Given the description of an element on the screen output the (x, y) to click on. 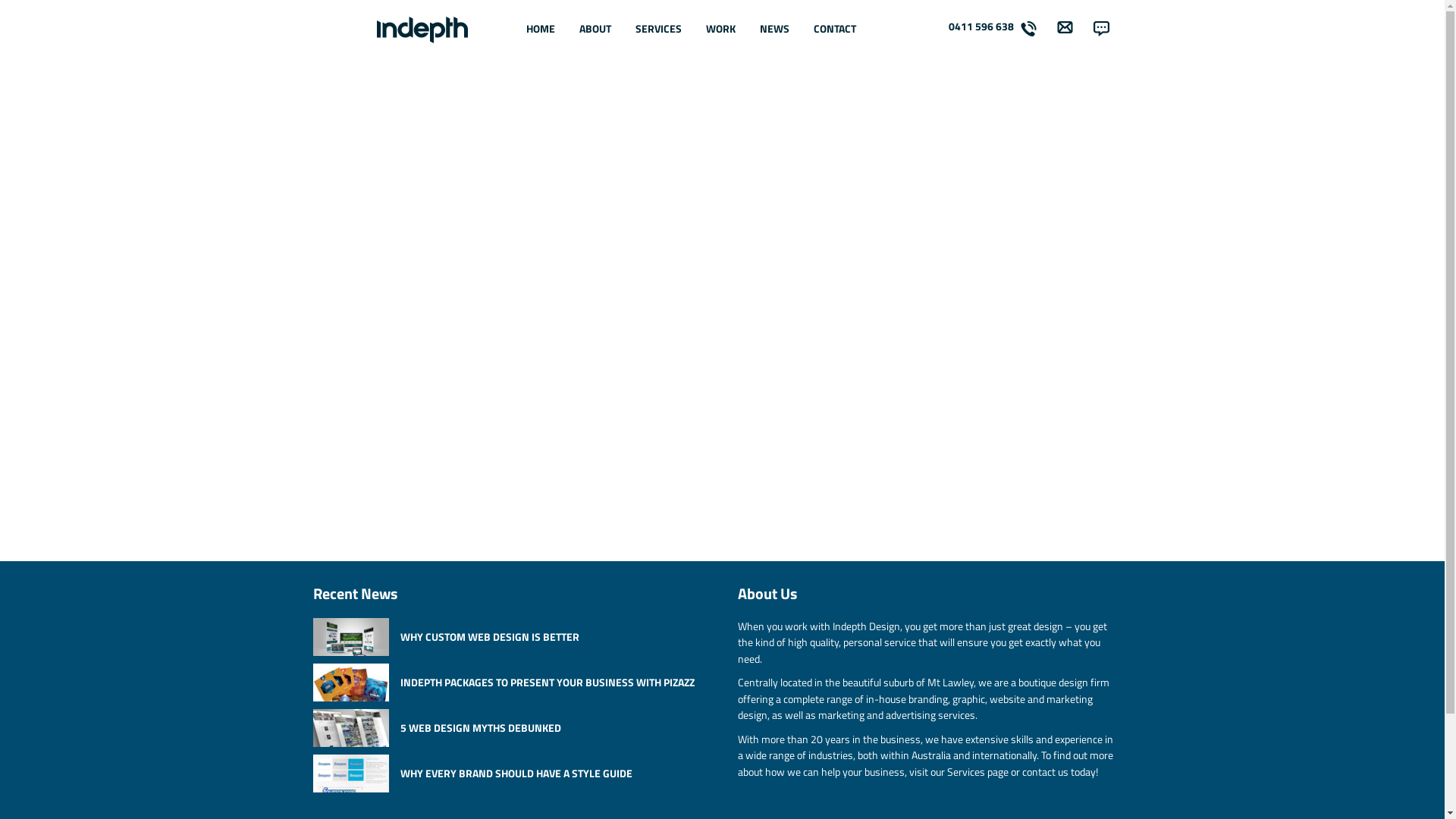
WORK Element type: text (719, 28)
5 WEB DESIGN MYTHS DEBUNKED Element type: text (516, 727)
ABOUT Element type: text (595, 28)
Send us a message Element type: text (721, 487)
HOME Element type: text (540, 28)
INDEPTH PACKAGES TO PRESENT YOUR BUSINESS WITH PIZAZZ Element type: text (516, 681)
0411 596 638 Element type: text (731, 402)
0411 596 638 Element type: text (994, 30)
SERVICES Element type: text (658, 28)
WHY CUSTOM WEB DESIGN IS BETTER Element type: text (516, 636)
contact@indepth.com.au Element type: text (736, 418)
WHY EVERY BRAND SHOULD HAVE A STYLE GUIDE Element type: text (516, 772)
NEWS Element type: text (774, 28)
CONTACT Element type: text (833, 28)
